Given the description of an element on the screen output the (x, y) to click on. 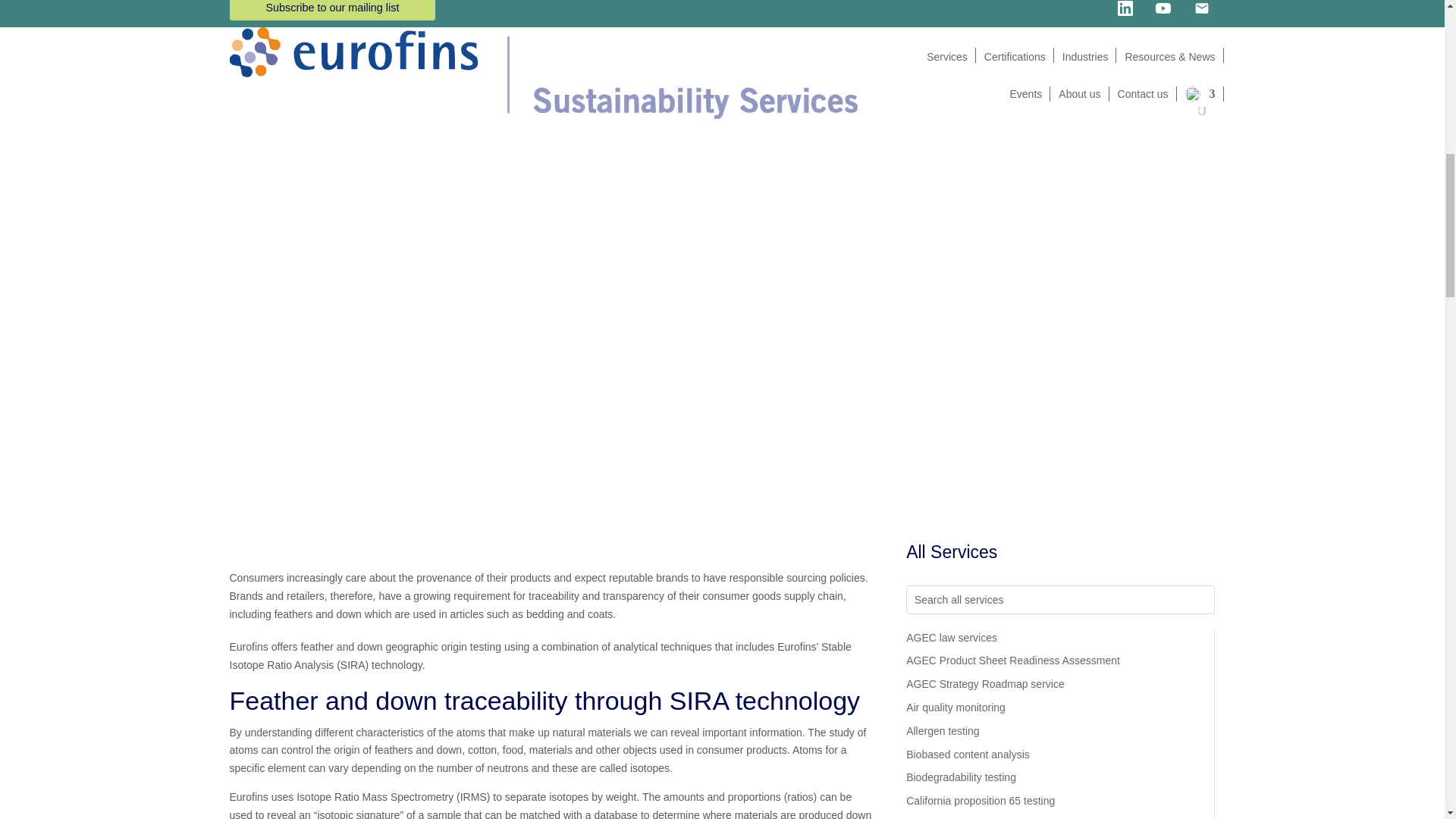
AGEC Strategy Roadmap service (984, 684)
California proposition 65 testing (979, 800)
AGEC law services (951, 637)
Air quality monitoring (955, 707)
AGEC Product Sheet Readiness Assessment (1012, 660)
Biodegradability testing (960, 776)
Allergen testing (942, 730)
Biobased content analysis (967, 754)
